Given the description of an element on the screen output the (x, y) to click on. 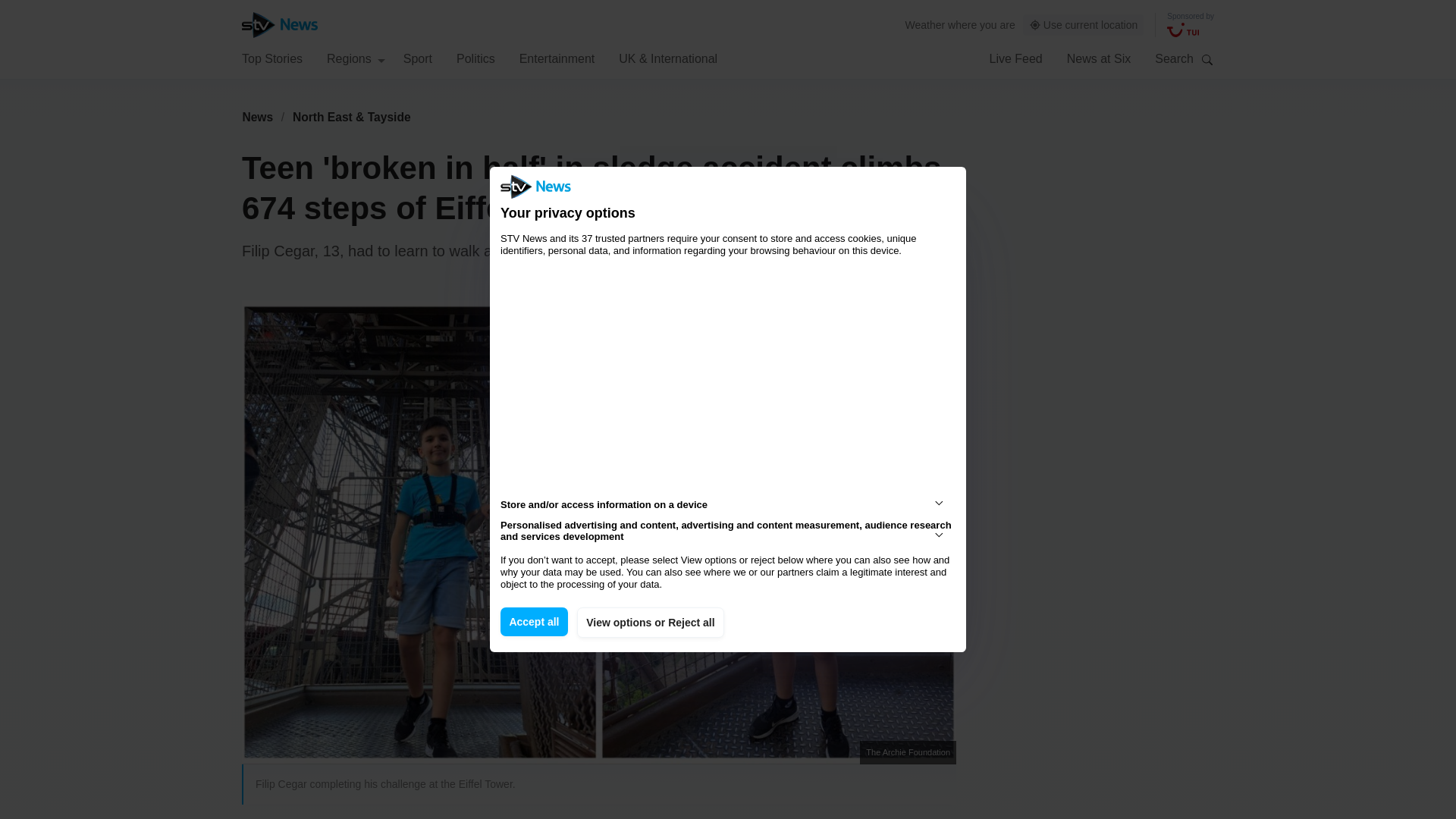
Use current location (1083, 25)
Regions (355, 57)
Weather (924, 24)
News (257, 116)
Entertainment (557, 57)
Live Feed (1015, 57)
Top Stories (271, 57)
News at Six (1099, 57)
Search (1206, 59)
